Given the description of an element on the screen output the (x, y) to click on. 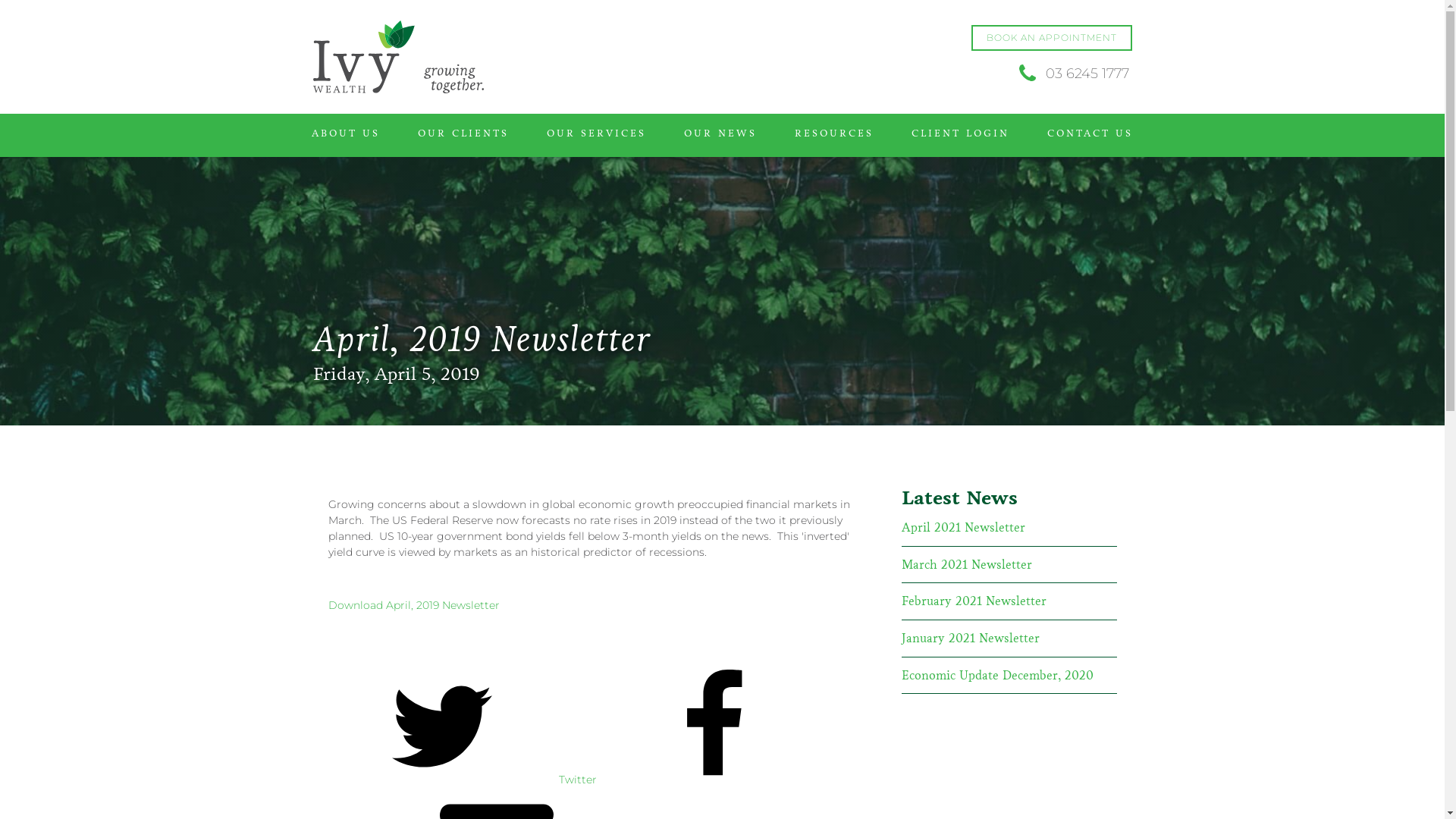
Economic Update December, 2020 Element type: text (996, 675)
ABOUT US Element type: text (345, 131)
Twitter Element type: text (463, 779)
Download April, 2019 Newsletter Element type: text (412, 604)
03 6245 1777 Element type: text (1072, 73)
March 2021 Newsletter Element type: text (965, 564)
OUR NEWS Element type: text (720, 131)
BOOK AN APPOINTMENT Element type: text (1050, 37)
February 2021 Newsletter Element type: text (972, 601)
January 2021 Newsletter Element type: text (969, 638)
RESOURCES Element type: text (833, 131)
April 2021 Newsletter Element type: text (962, 527)
OUR SERVICES Element type: text (596, 131)
OUR CLIENTS Element type: text (462, 131)
CLIENT LOGIN Element type: text (960, 131)
CONTACT US Element type: text (1089, 131)
